Given the description of an element on the screen output the (x, y) to click on. 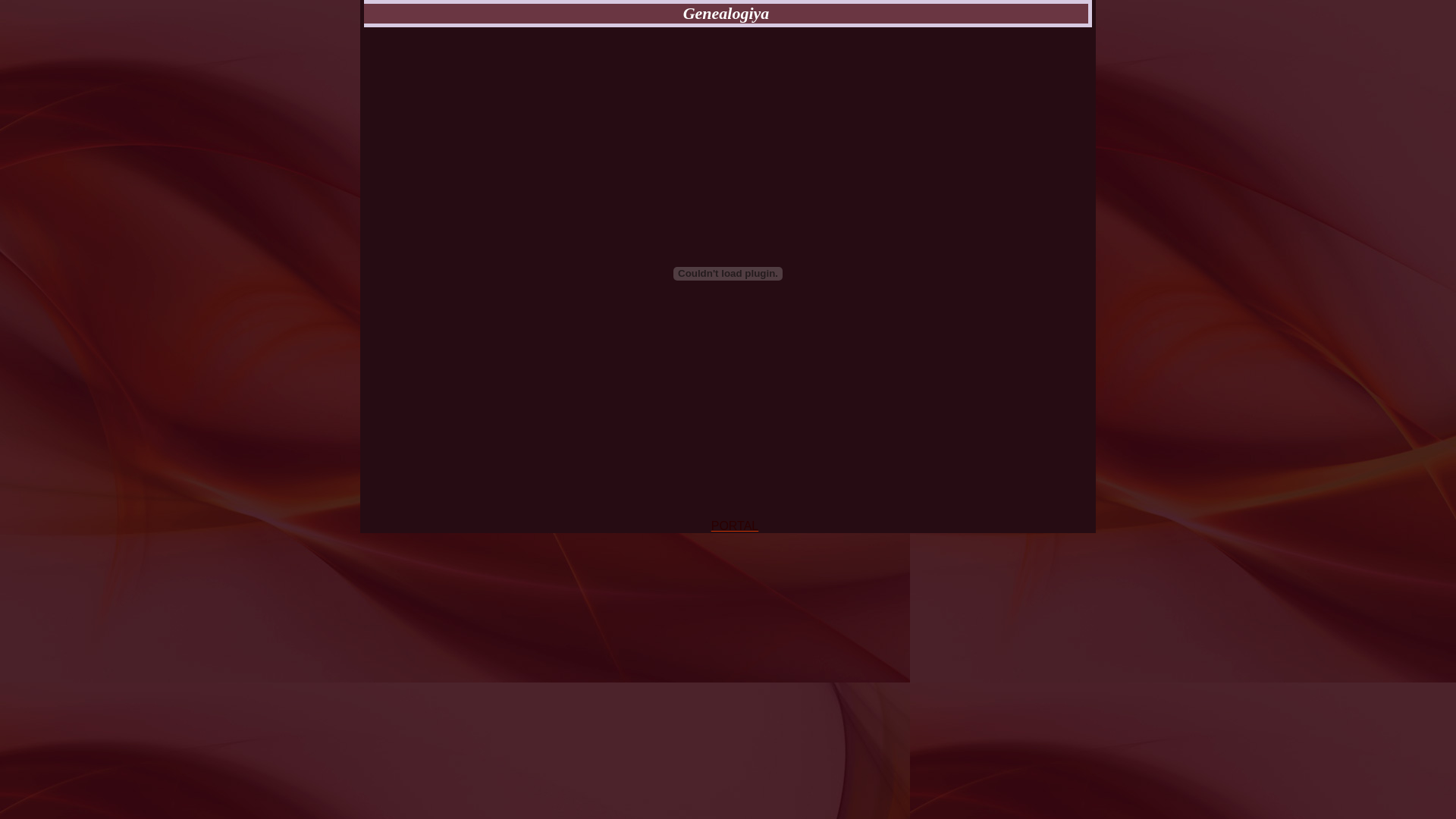
PORTAL Element type: text (735, 525)
